Given the description of an element on the screen output the (x, y) to click on. 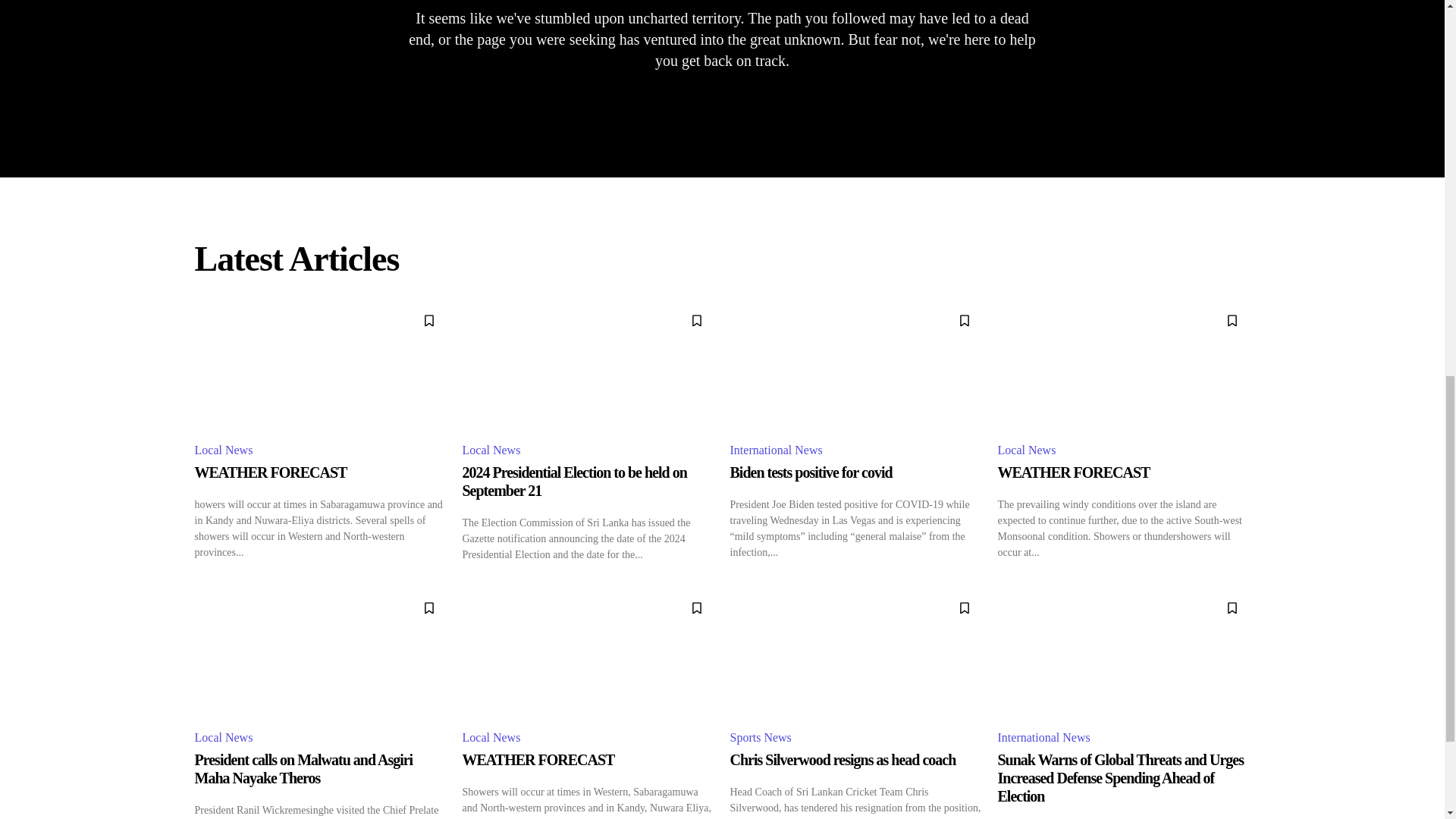
WEATHER FORECAST (319, 365)
2024 Presidential Election to be held on September 21 (575, 481)
WEATHER FORECAST (269, 472)
President calls on Malwatu and Asgiri Maha Nayake Theros (319, 652)
WEATHER FORECAST (1123, 365)
Biden tests positive for covid (855, 365)
WEATHER FORECAST (1073, 472)
Local News (225, 450)
Local News (494, 450)
WEATHER FORECAST (269, 472)
2024 Presidential Election to be held on September 21 (588, 365)
Biden tests positive for covid (810, 472)
